Given the description of an element on the screen output the (x, y) to click on. 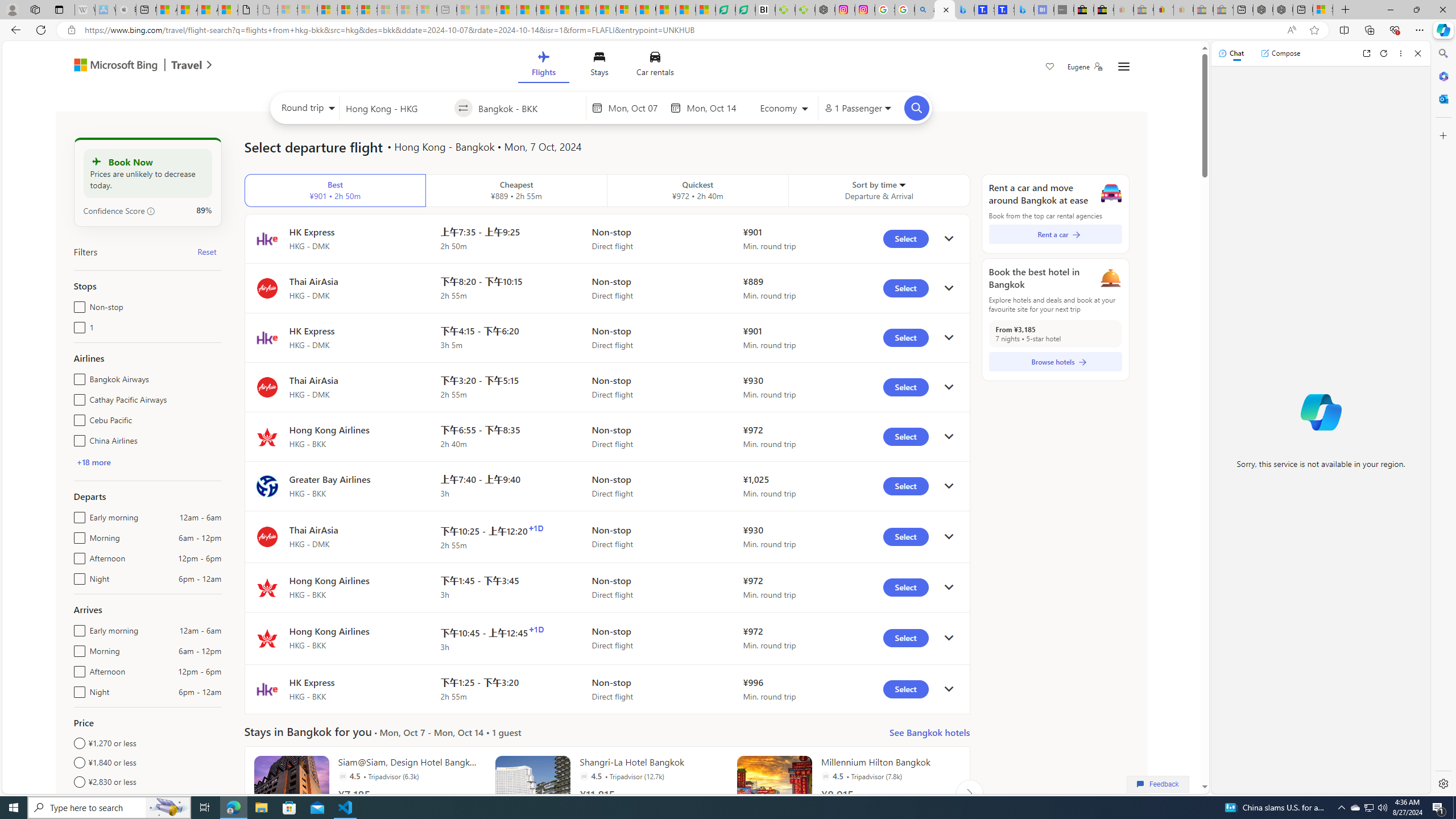
Eugene (1084, 66)
Safety in Our Products - Google Safety Center (884, 9)
Wikipedia - Sleeping (84, 9)
New tab - Sleeping (446, 9)
Bangkok Airways (76, 376)
LendingTree - Compare Lenders (745, 9)
